Given the description of an element on the screen output the (x, y) to click on. 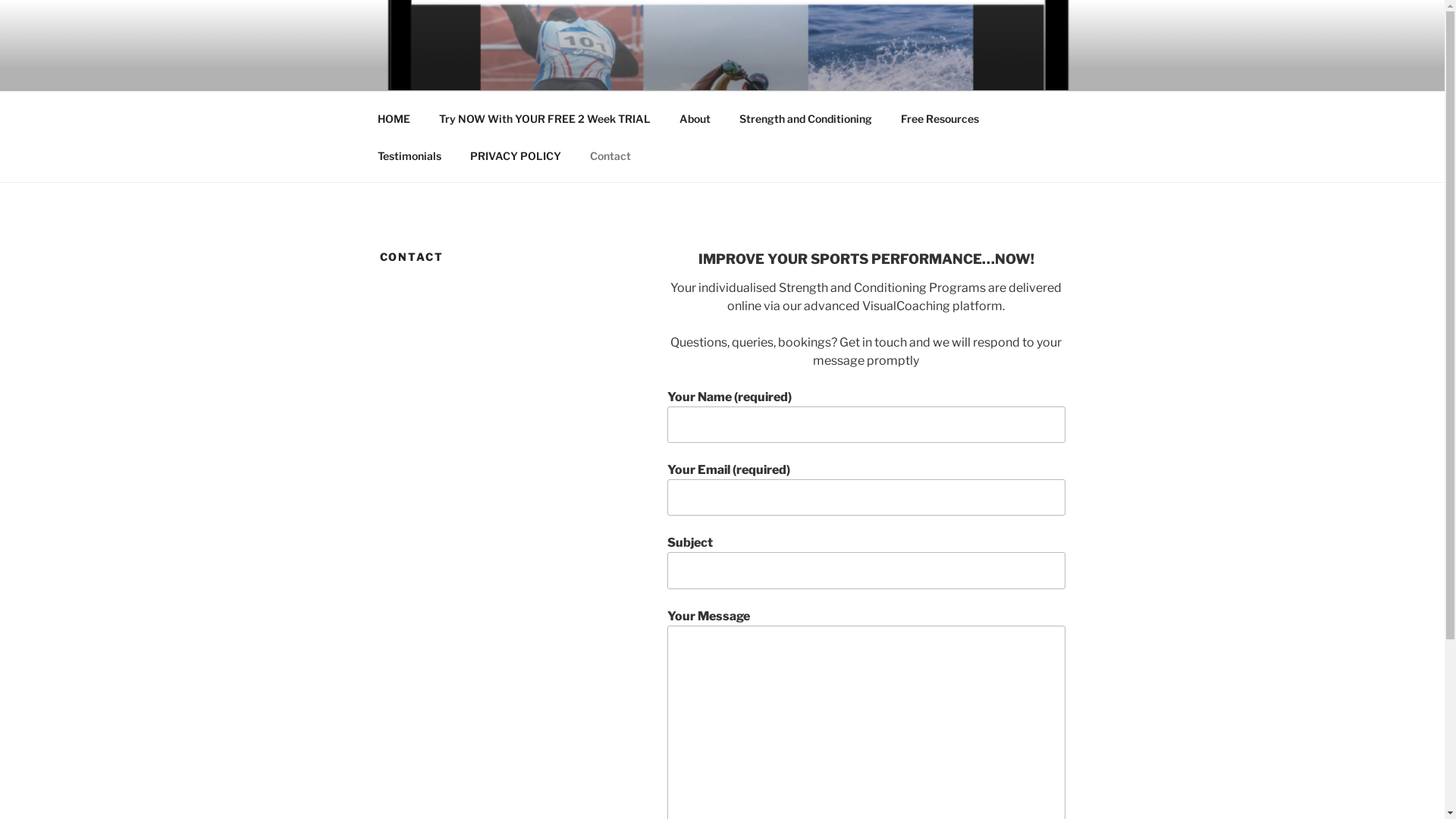
Strength and Conditioning Element type: text (805, 118)
HOME Element type: text (393, 118)
Free Resources Element type: text (939, 118)
Contact Element type: text (609, 154)
PRIVACY POLICY Element type: text (515, 154)
Try NOW With YOUR FREE 2 Week TRIAL Element type: text (545, 118)
About Element type: text (694, 118)
Testimonials Element type: text (409, 154)
